Given the description of an element on the screen output the (x, y) to click on. 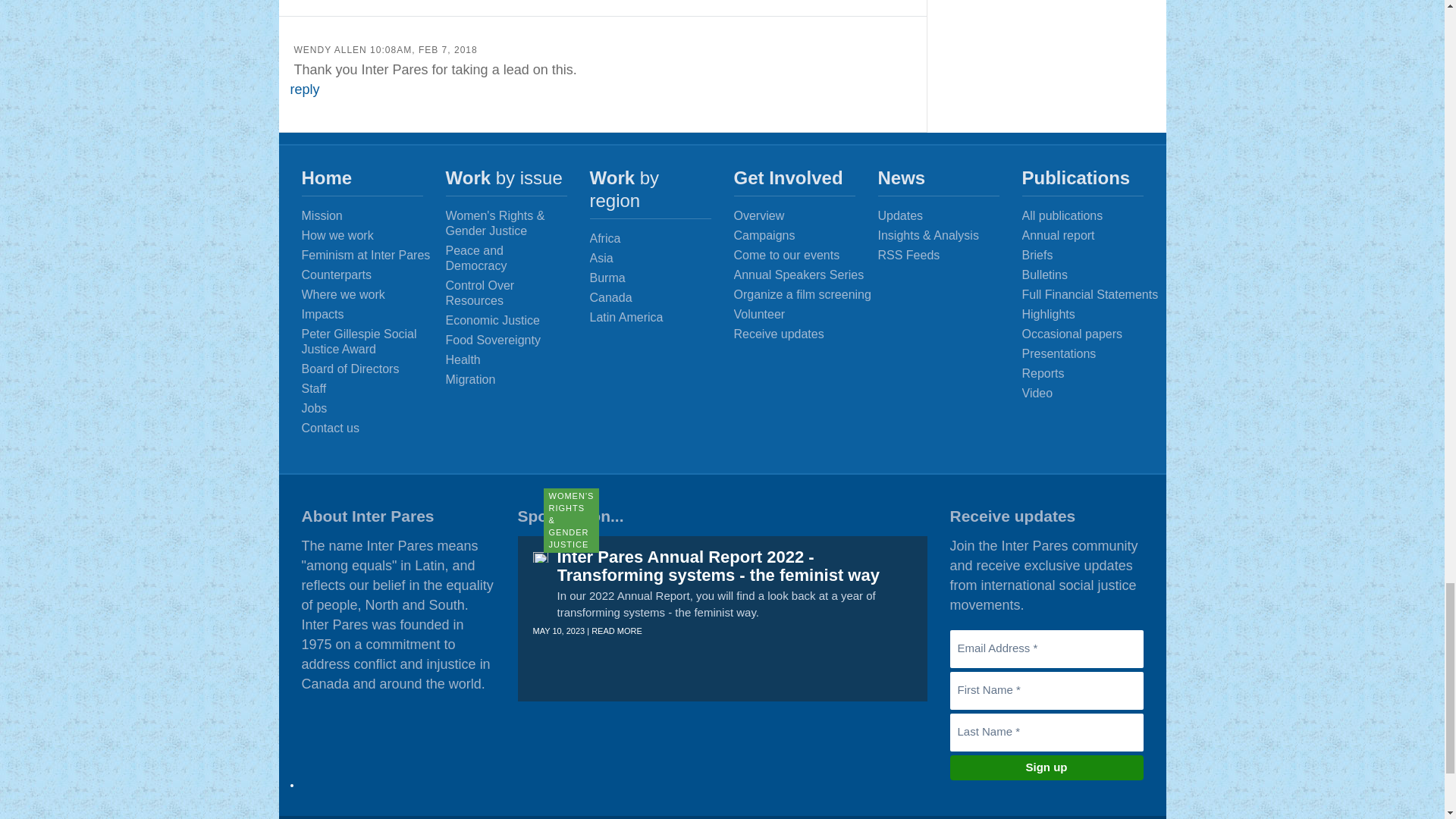
Upcoming events (806, 255)
